Given the description of an element on the screen output the (x, y) to click on. 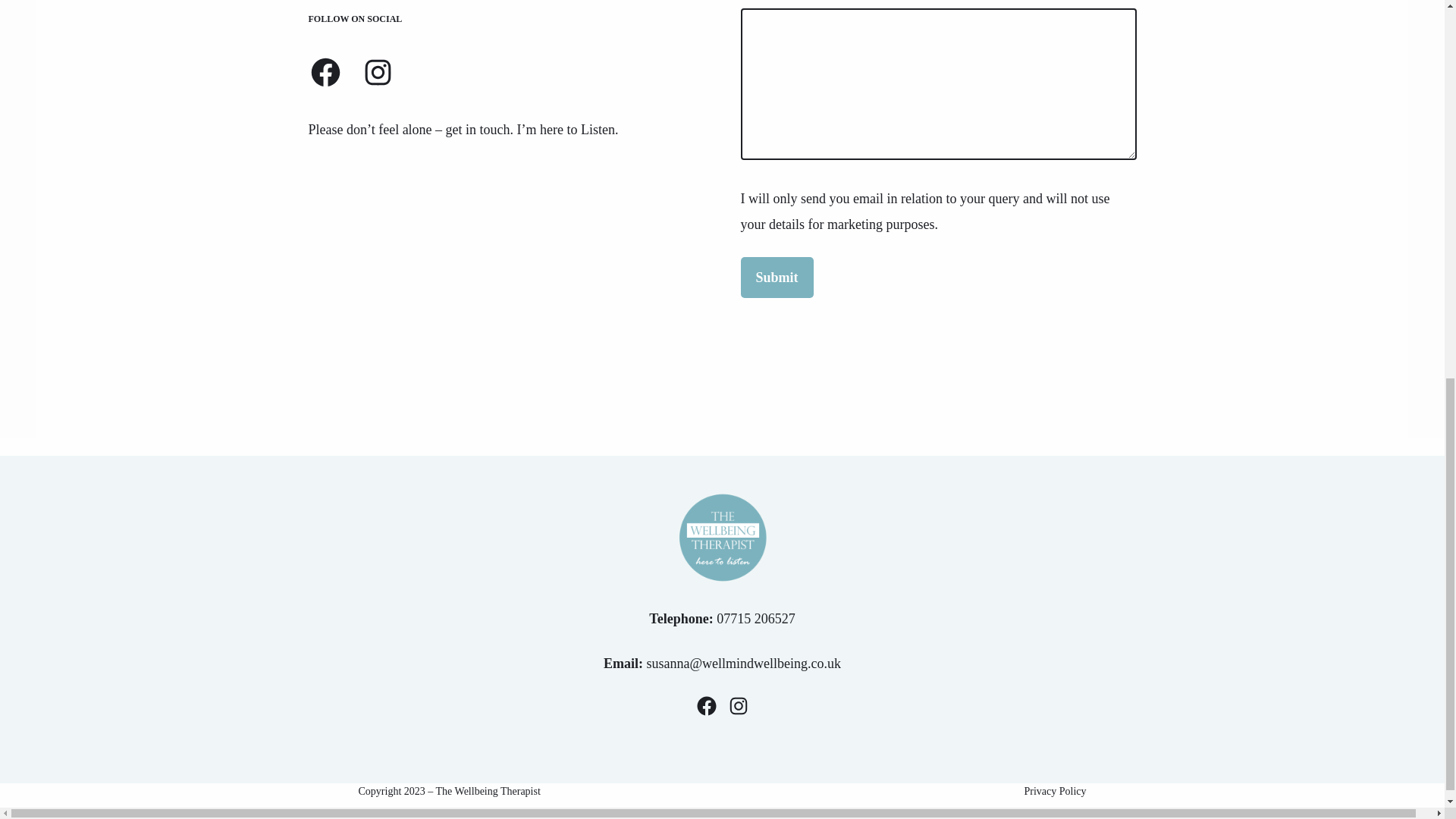
Privacy Policy (1054, 791)
Facebook (705, 705)
Instagram (737, 705)
Instagram (377, 72)
Submit (775, 277)
Facebook (324, 72)
